Given the description of an element on the screen output the (x, y) to click on. 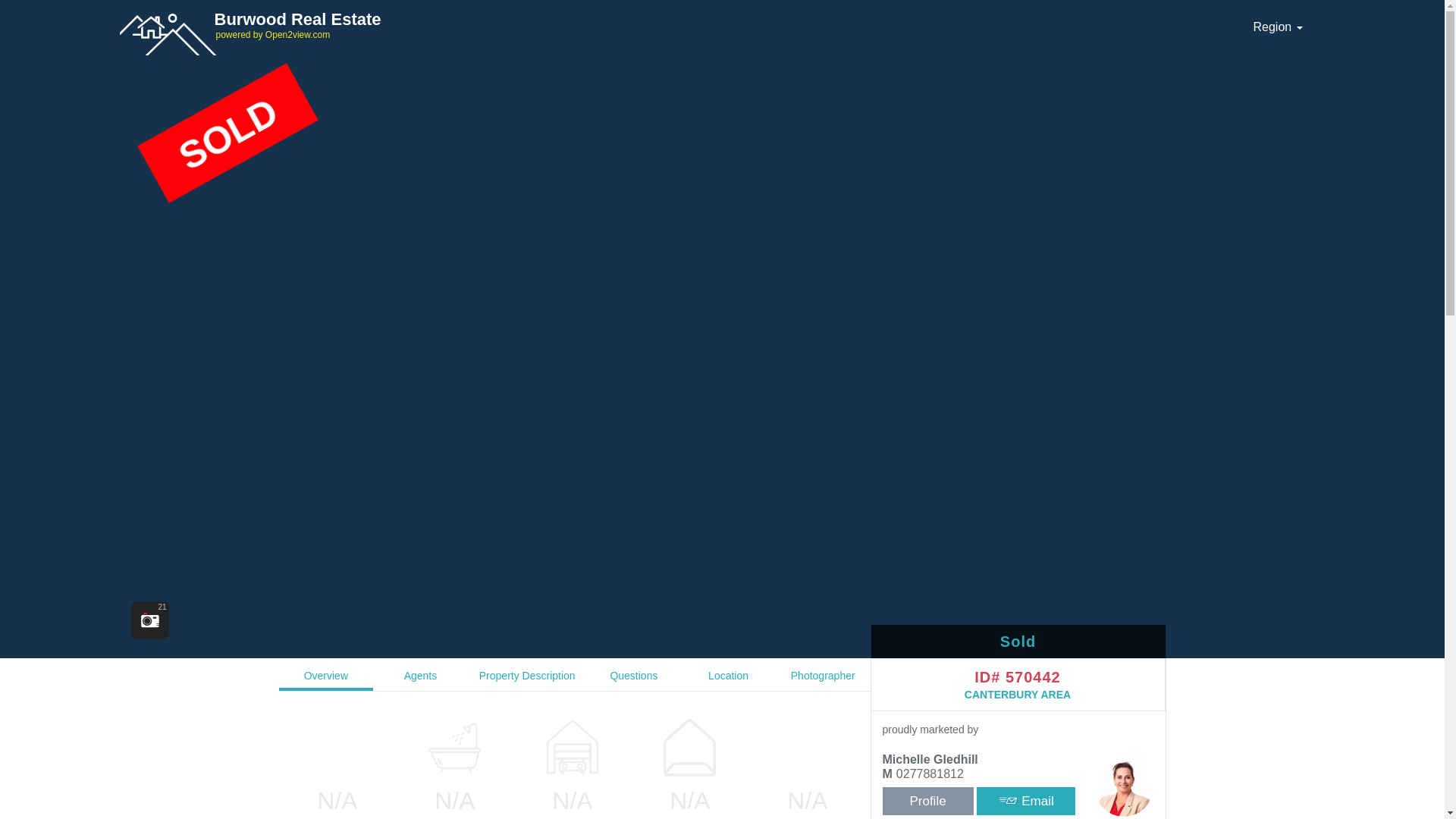
Burwood Real Estate (676, 24)
